Given the description of an element on the screen output the (x, y) to click on. 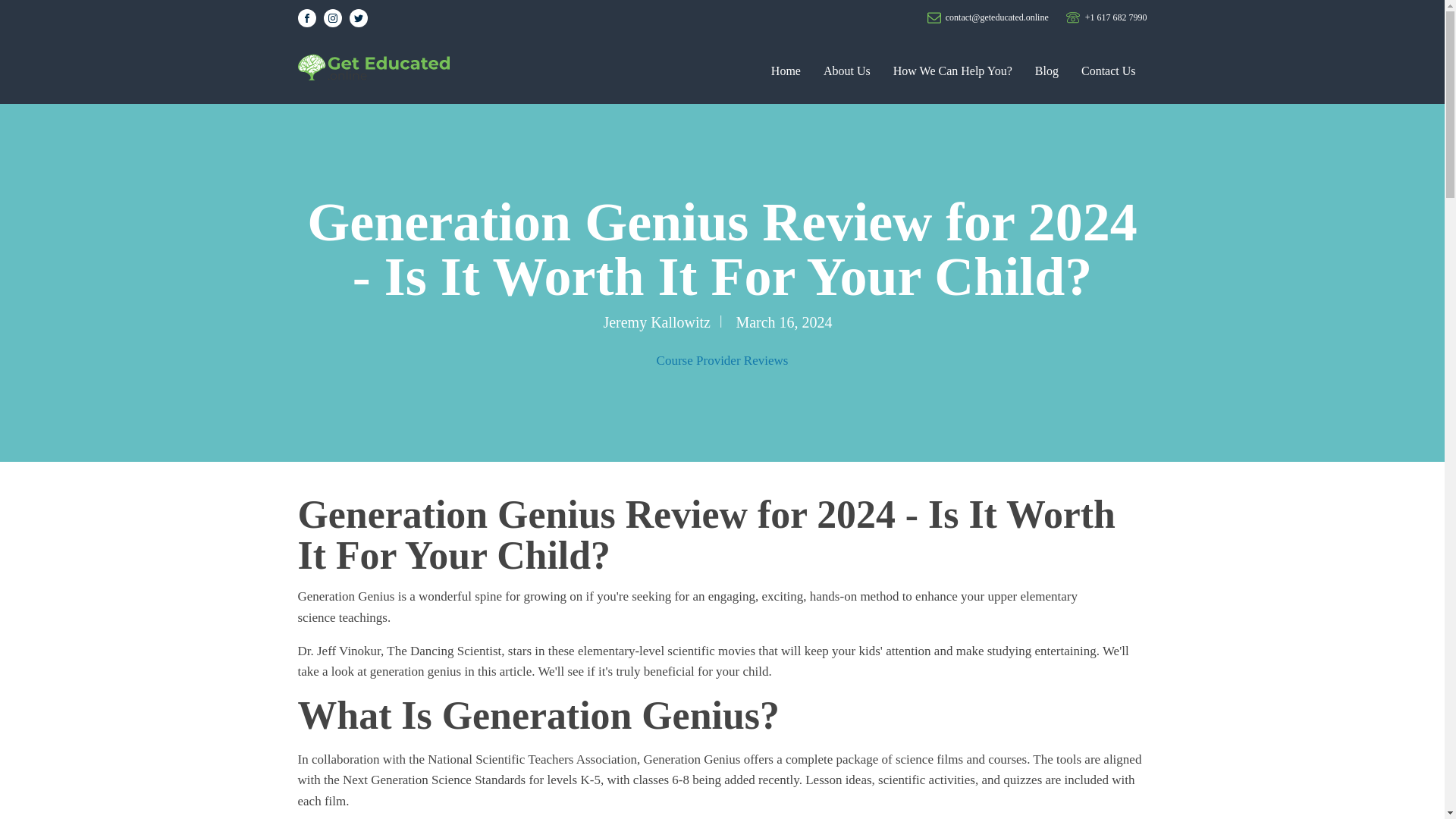
Contact Us (1108, 70)
Course Provider Reviews (722, 359)
About Us (847, 70)
Blog (1046, 70)
How We Can Help You? (952, 70)
Home (786, 70)
